Given the description of an element on the screen output the (x, y) to click on. 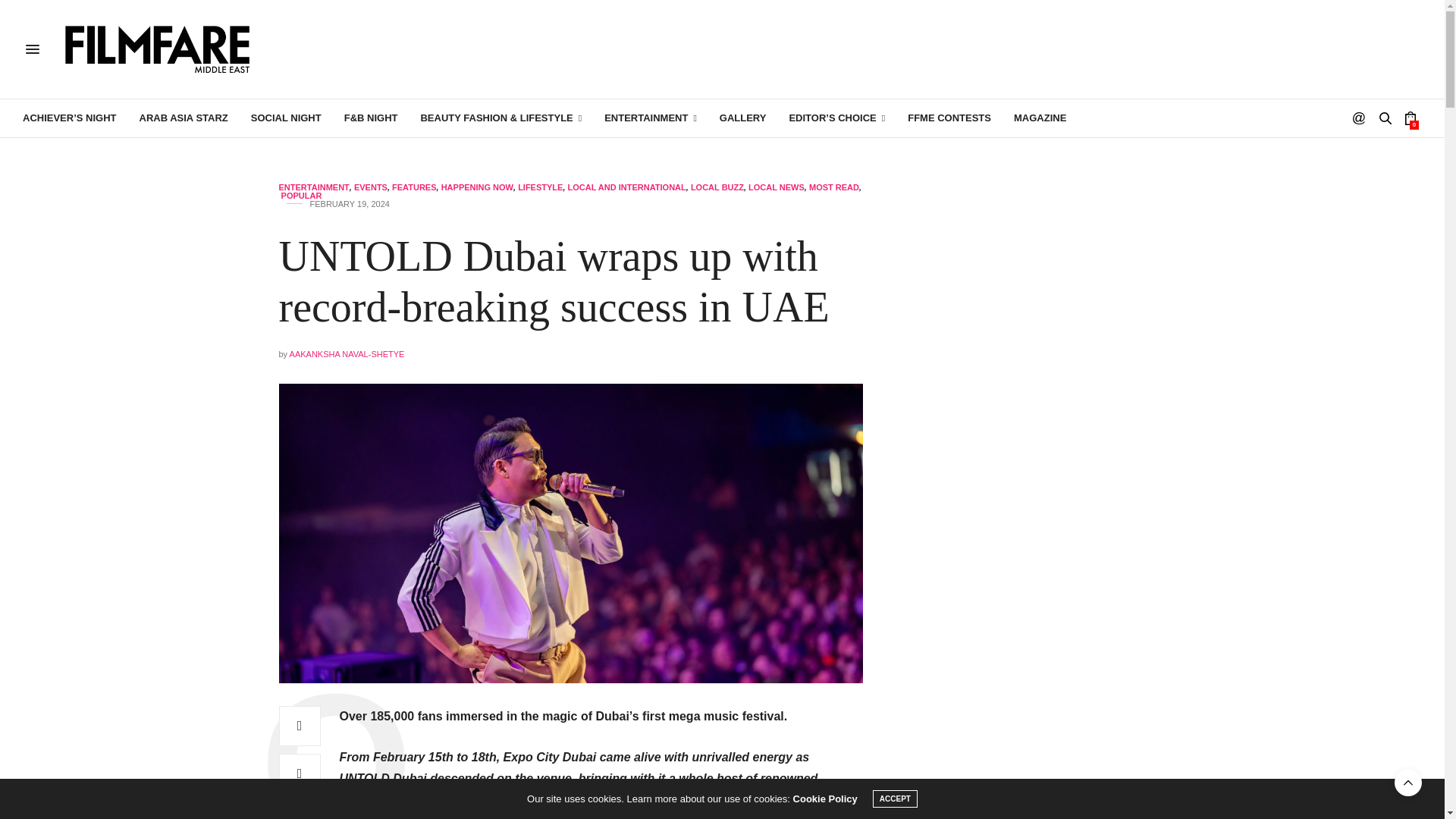
Posts by Aakanksha Naval-Shetye (346, 353)
ENTERTAINMENT (650, 118)
SOCIAL NIGHT (285, 118)
ARAB ASIA STARZ (183, 118)
FilmFare (158, 49)
GALLERY (743, 118)
